Given the description of an element on the screen output the (x, y) to click on. 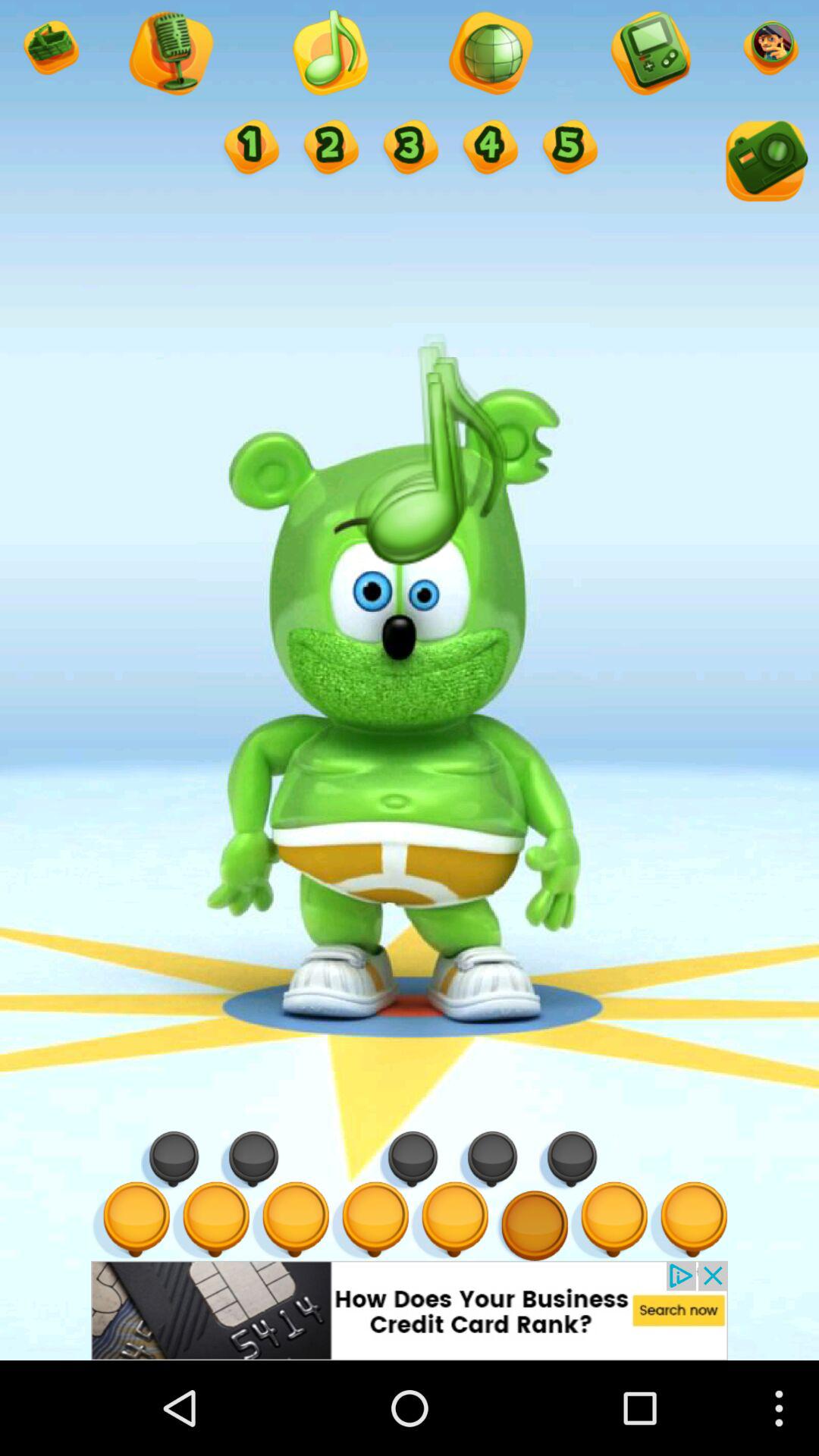
one (249, 149)
